Given the description of an element on the screen output the (x, y) to click on. 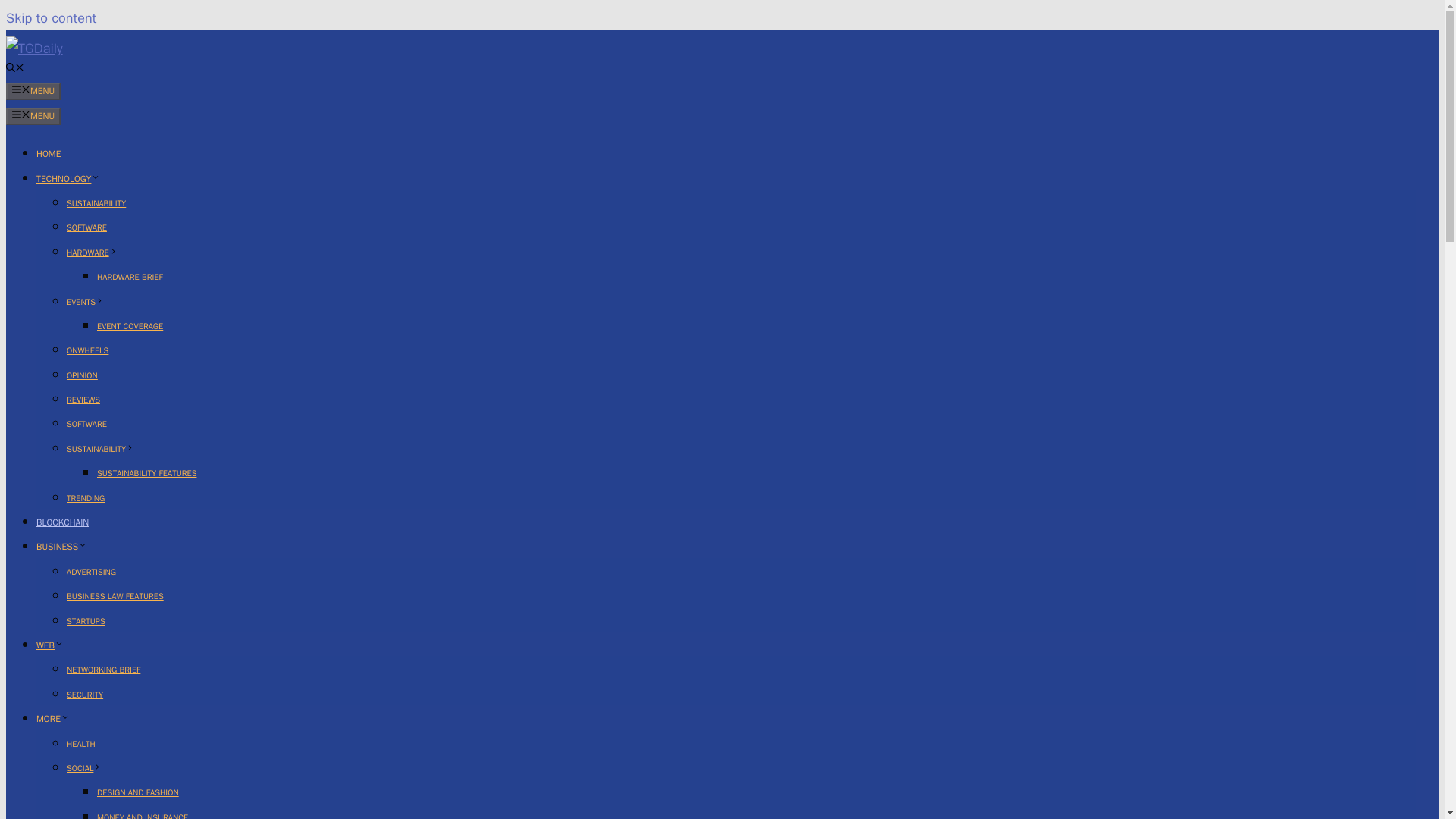
HOME (48, 153)
BUSINESS LAW FEATURES (114, 595)
SUSTAINABILITY (95, 203)
SOCIAL (83, 767)
MENU (33, 116)
ADVERTISING (91, 571)
REVIEWS (83, 398)
TRENDING (85, 498)
MENU (33, 90)
EVENT COVERAGE (130, 326)
